Given the description of an element on the screen output the (x, y) to click on. 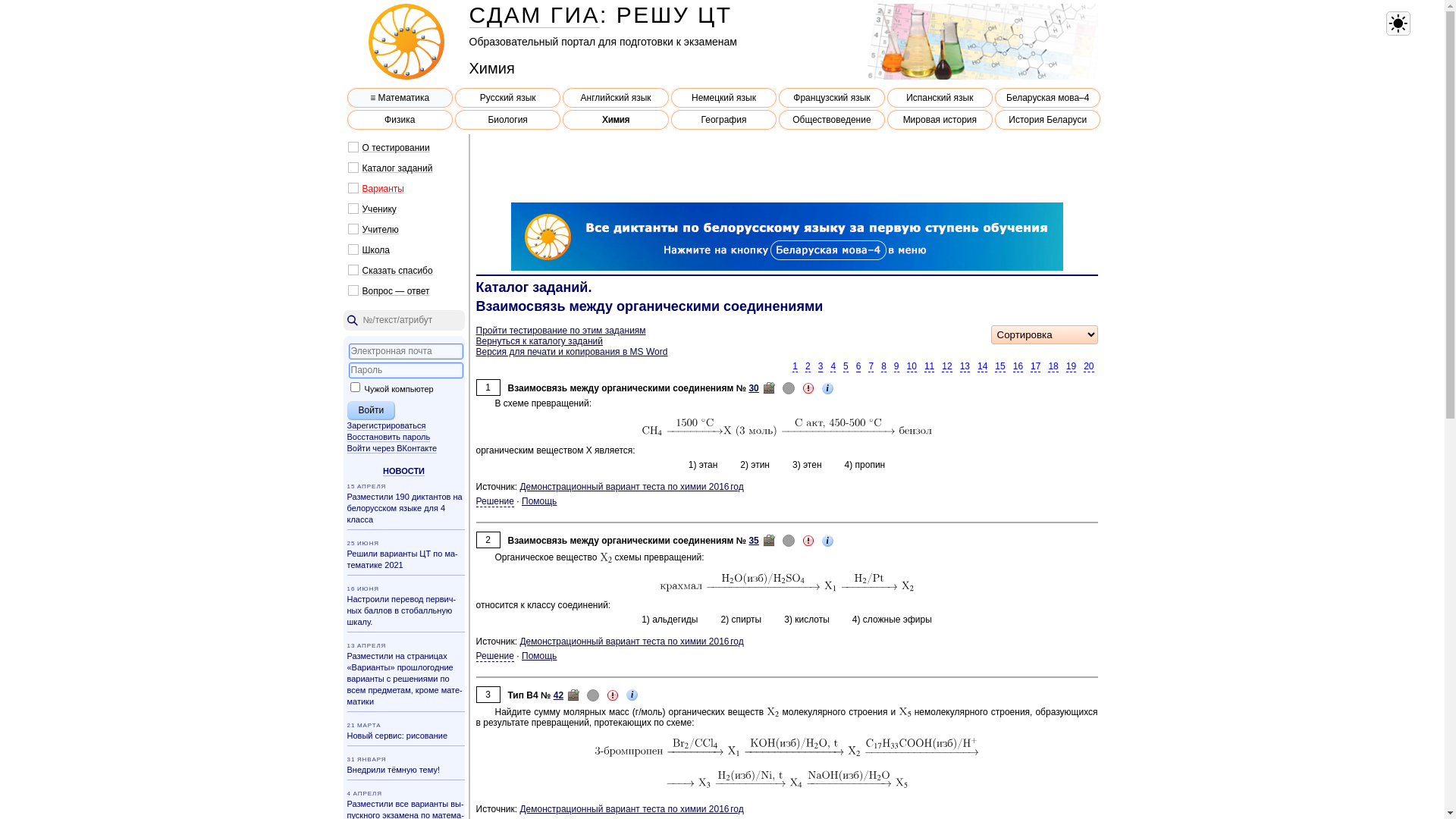
i Element type: text (631, 694)
i Element type: text (827, 387)
35 Element type: text (753, 540)
42 Element type: text (558, 695)
30 Element type: text (753, 387)
i Element type: text (827, 540)
